Given the description of an element on the screen output the (x, y) to click on. 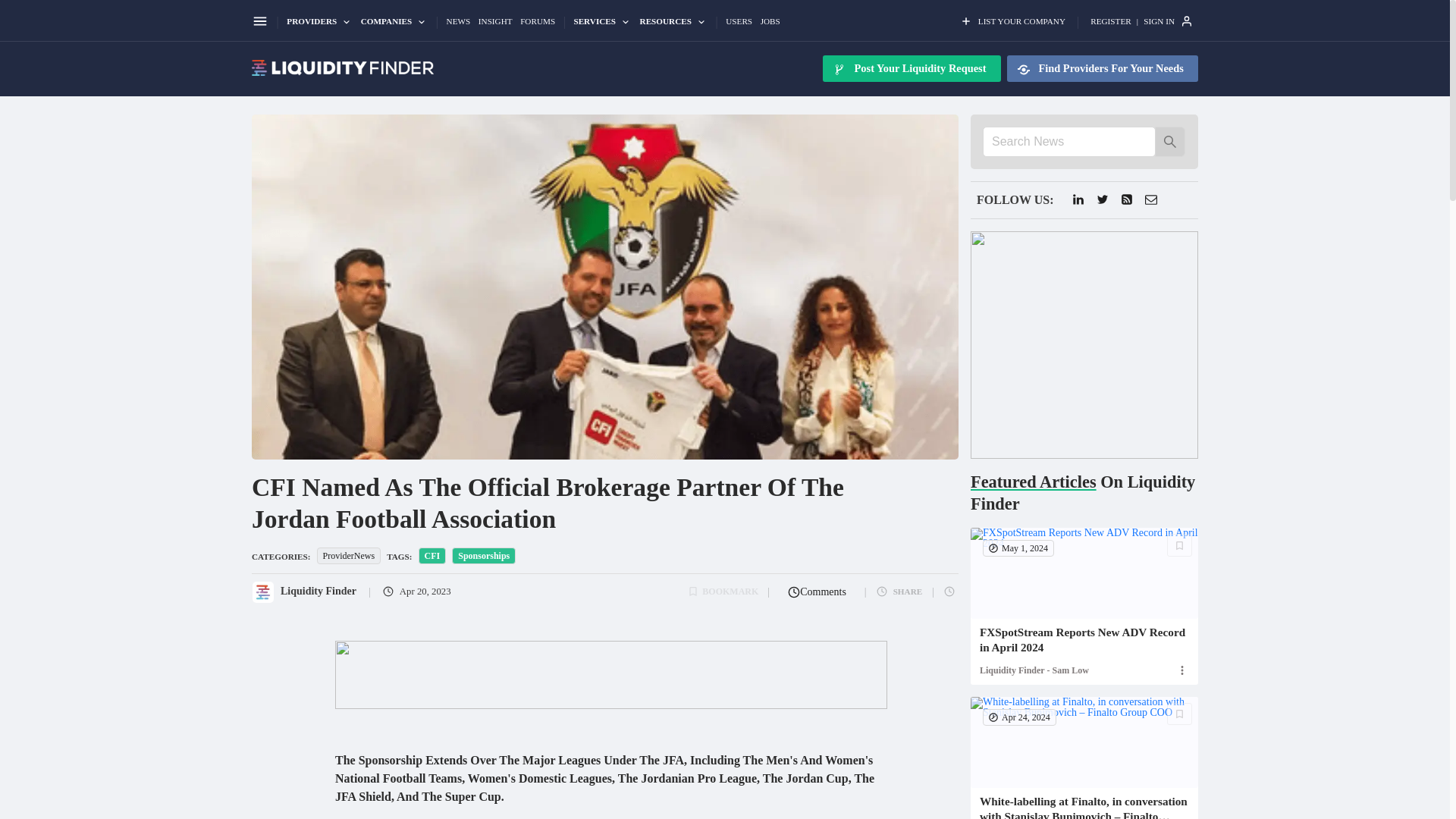
LIST YOUR COMPANY (1012, 21)
LIST YOUR COMPANY (1012, 21)
CFI (435, 555)
Sponsorships (486, 555)
USERS (738, 21)
Comments (817, 591)
Post Your Liquidity Request (911, 68)
NEWS (458, 21)
RESOURCES (673, 22)
ProviderNews (352, 555)
FORUMS (536, 21)
COMPANIES (394, 22)
SERVICES (602, 22)
BOOKMARK (722, 591)
